Given the description of an element on the screen output the (x, y) to click on. 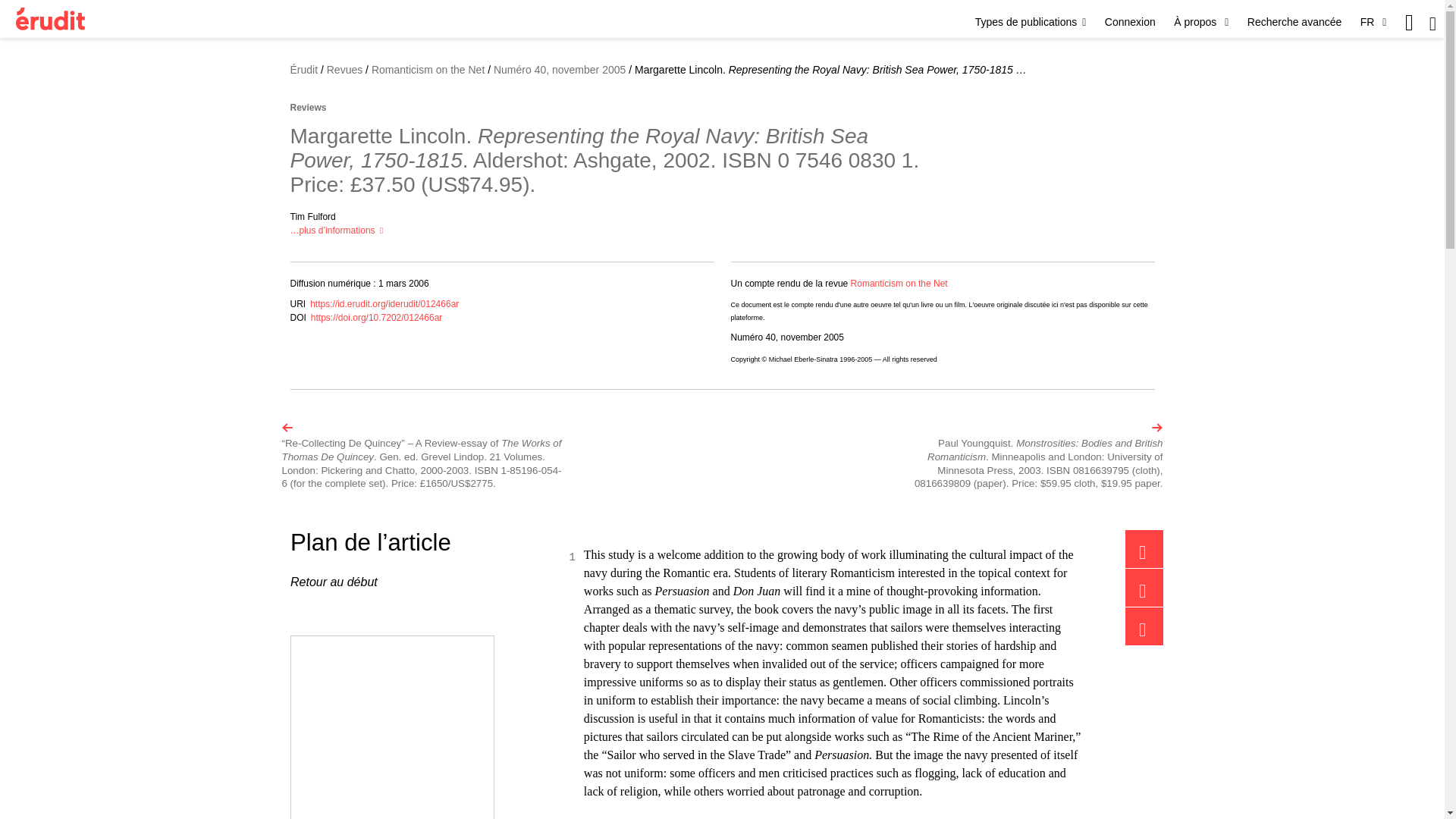
Romanticism on the Net (427, 69)
Revues (344, 69)
Effectuer une recherche simple (1432, 22)
Se connecter au tableau de bord (1130, 21)
Article suivant (1021, 455)
Types de publications (1030, 21)
FR (1373, 21)
Romanticism on the Net (898, 283)
Connexion (1130, 21)
Rapport annuel 2022-2023 (392, 727)
